Given the description of an element on the screen output the (x, y) to click on. 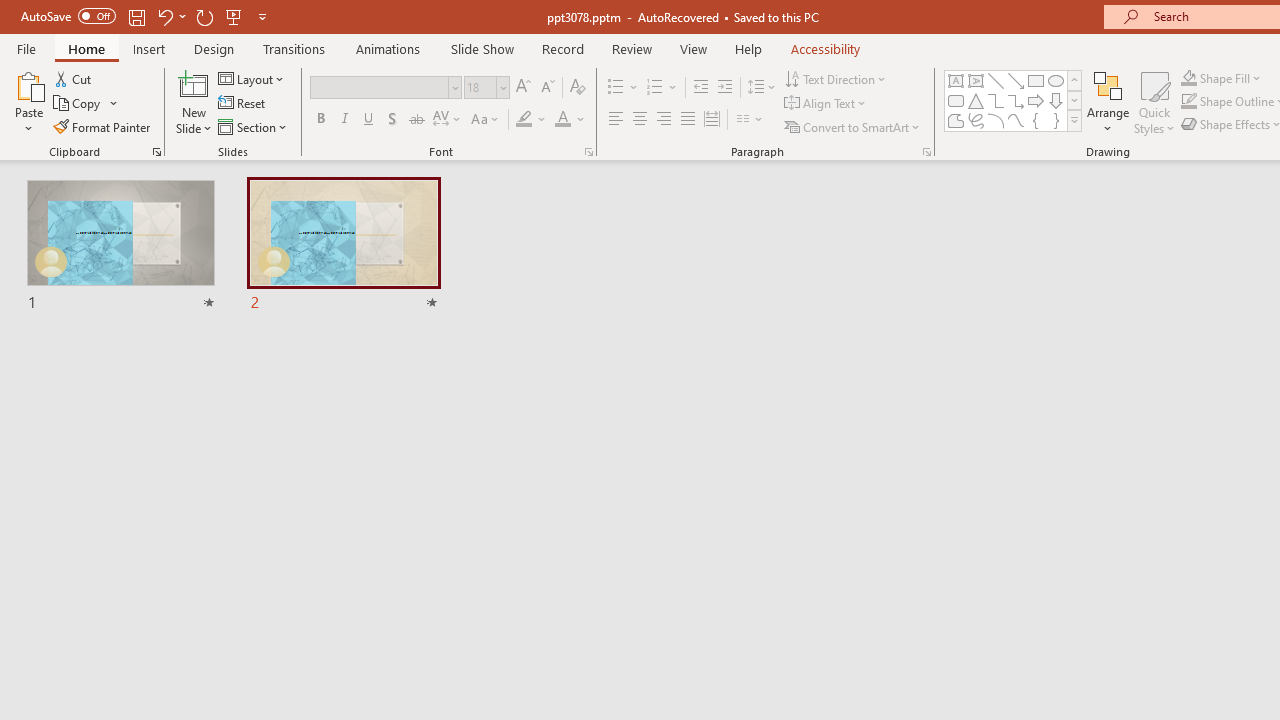
Justify (687, 119)
Columns (750, 119)
Font Size (486, 87)
Layout (252, 78)
Underline (369, 119)
Text Direction (836, 78)
Line (995, 80)
Home (86, 48)
Bold (320, 119)
AutomationID: ShapesInsertGallery (1014, 100)
Accessibility (825, 48)
Open (502, 87)
